Given the description of an element on the screen output the (x, y) to click on. 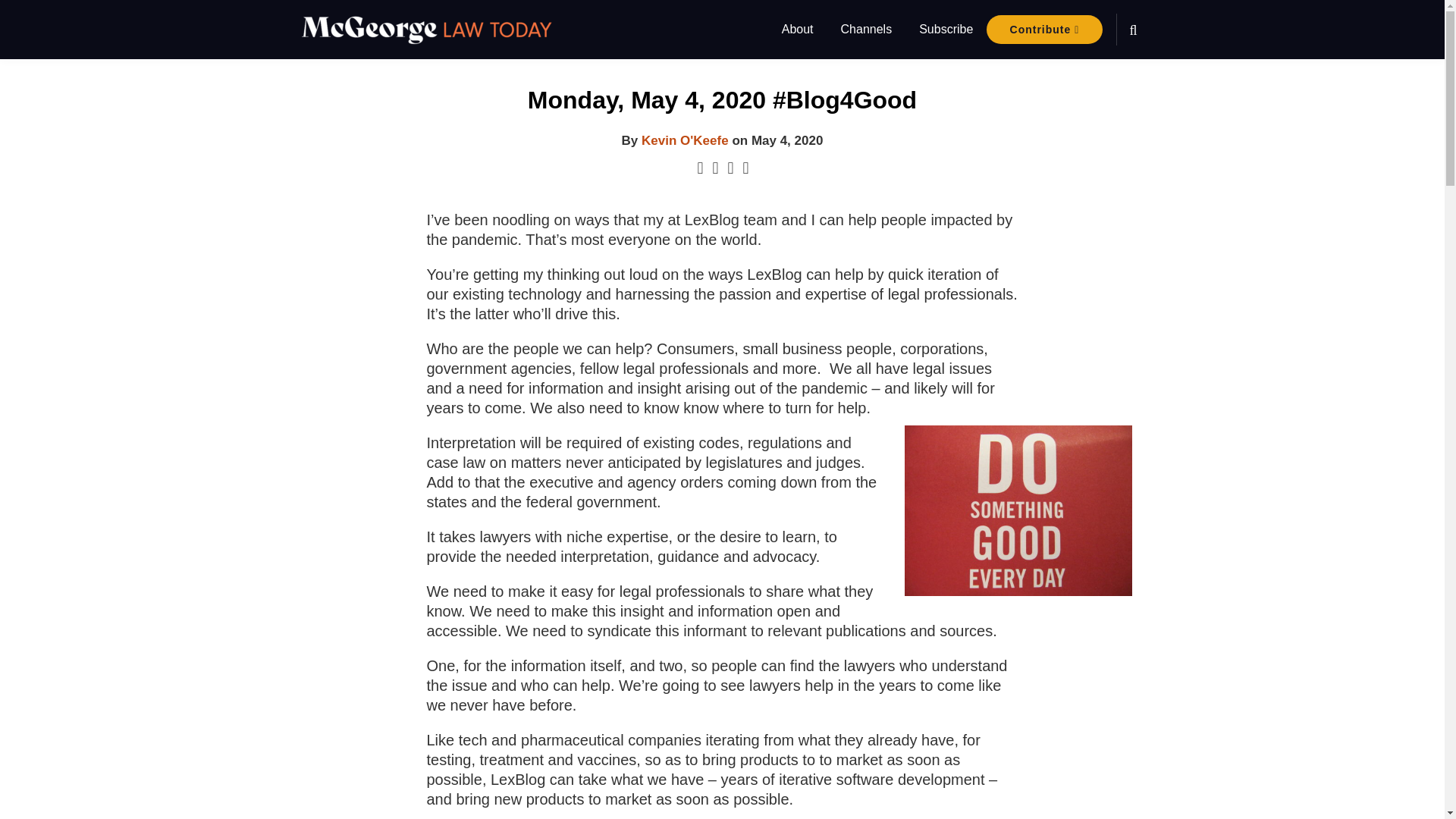
Channels (866, 29)
Contribute (1044, 29)
Subscribe (945, 29)
Kevin O'Keefe (685, 140)
About (797, 29)
